Given the description of an element on the screen output the (x, y) to click on. 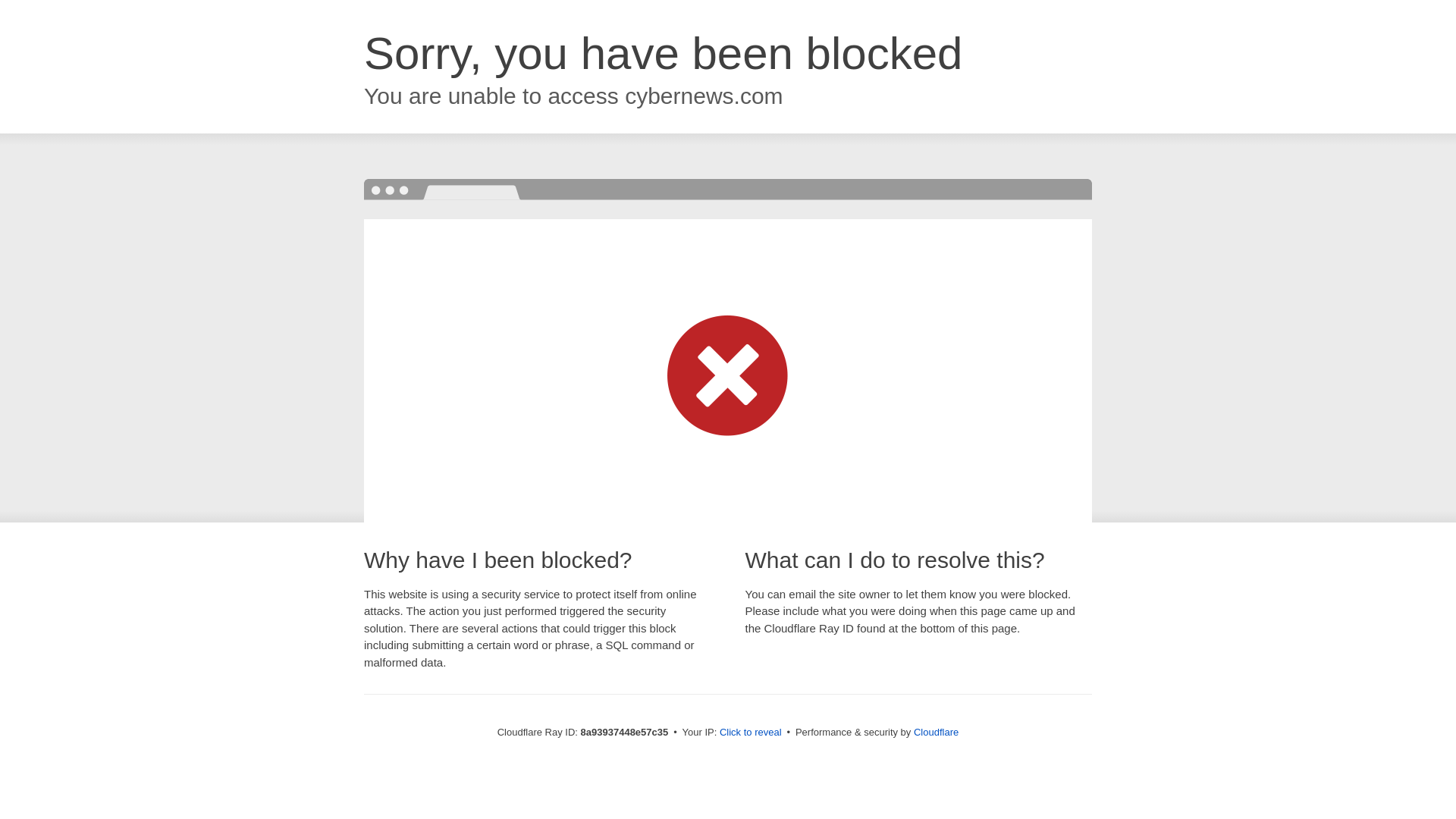
Click to reveal (750, 732)
Cloudflare (936, 731)
